Given the description of an element on the screen output the (x, y) to click on. 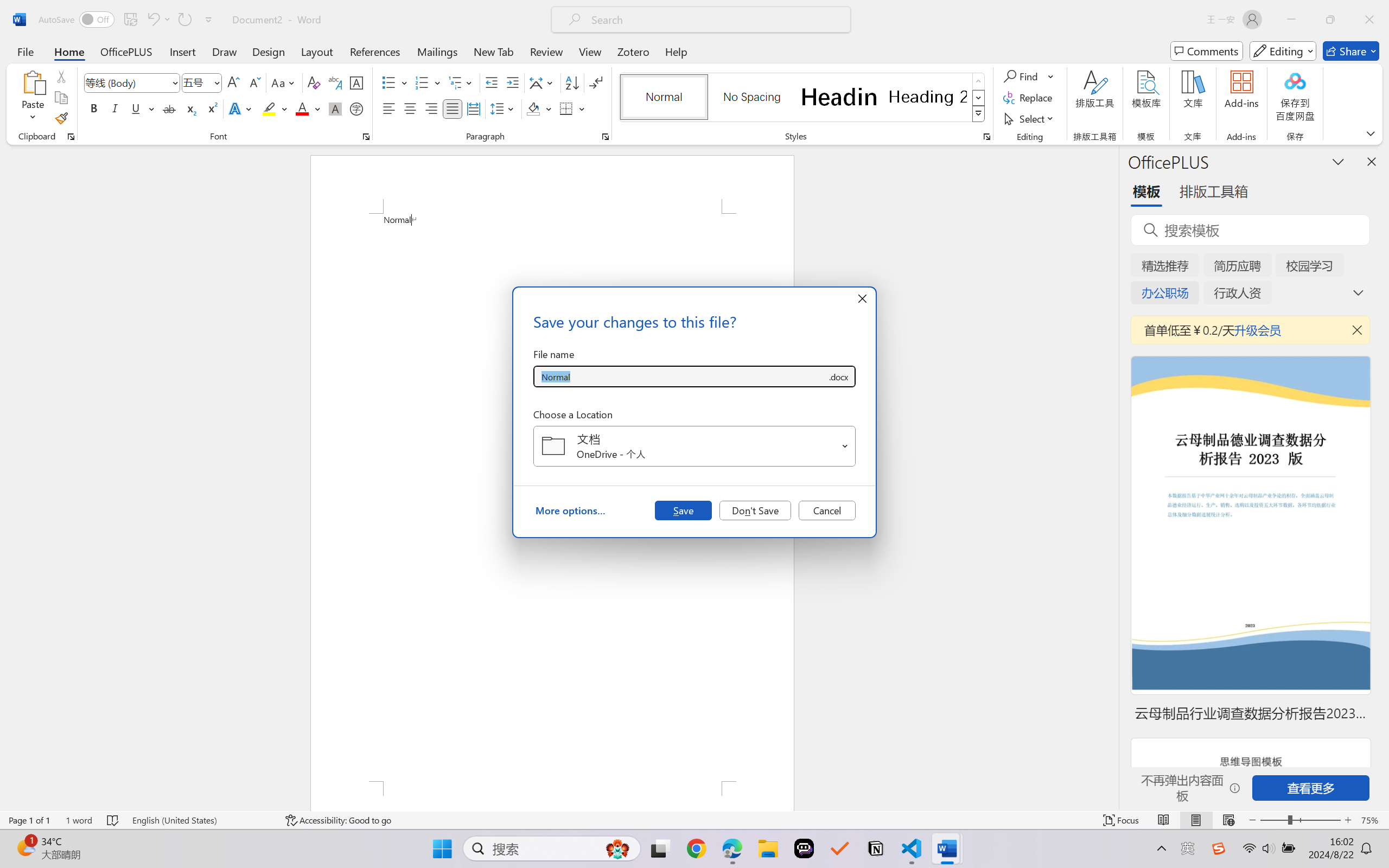
Paragraph... (605, 136)
Class: NetUIScrollBar (1111, 477)
Open (844, 446)
Accessibility Checker Accessibility: Good to go (338, 819)
View (589, 51)
Subscript (190, 108)
Home (69, 51)
Decrease Indent (491, 82)
Notion (875, 848)
Replace... (1029, 97)
